Given the description of an element on the screen output the (x, y) to click on. 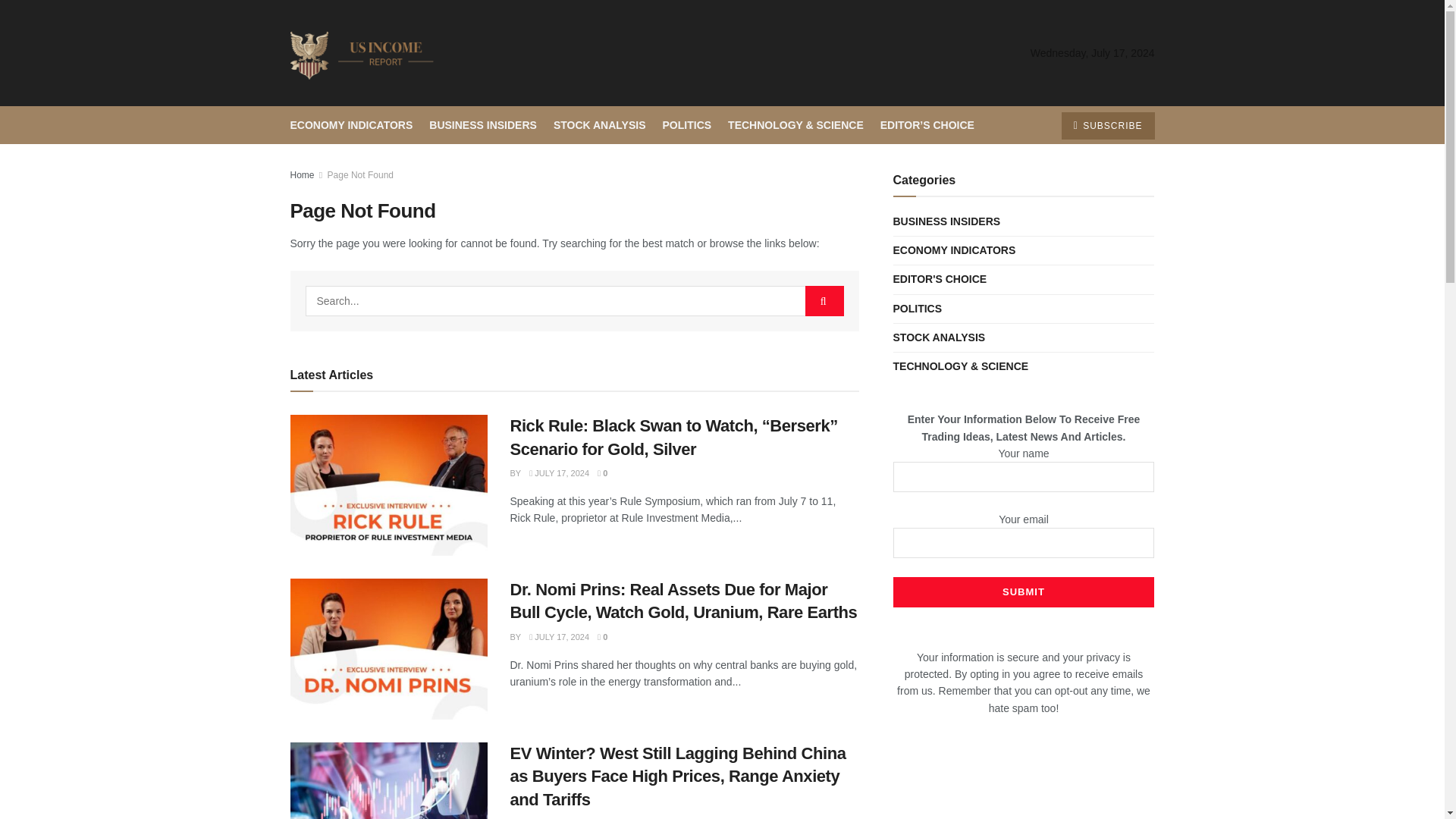
Submit (1023, 592)
STOCK ANALYSIS (599, 125)
JULY 17, 2024 (559, 472)
0 (601, 636)
0 (601, 472)
Home (301, 174)
POLITICS (686, 125)
ECONOMY INDICATORS (350, 125)
BUSINESS INSIDERS (483, 125)
SUBSCRIBE (1107, 125)
Page Not Found (360, 174)
JULY 17, 2024 (559, 636)
